Given the description of an element on the screen output the (x, y) to click on. 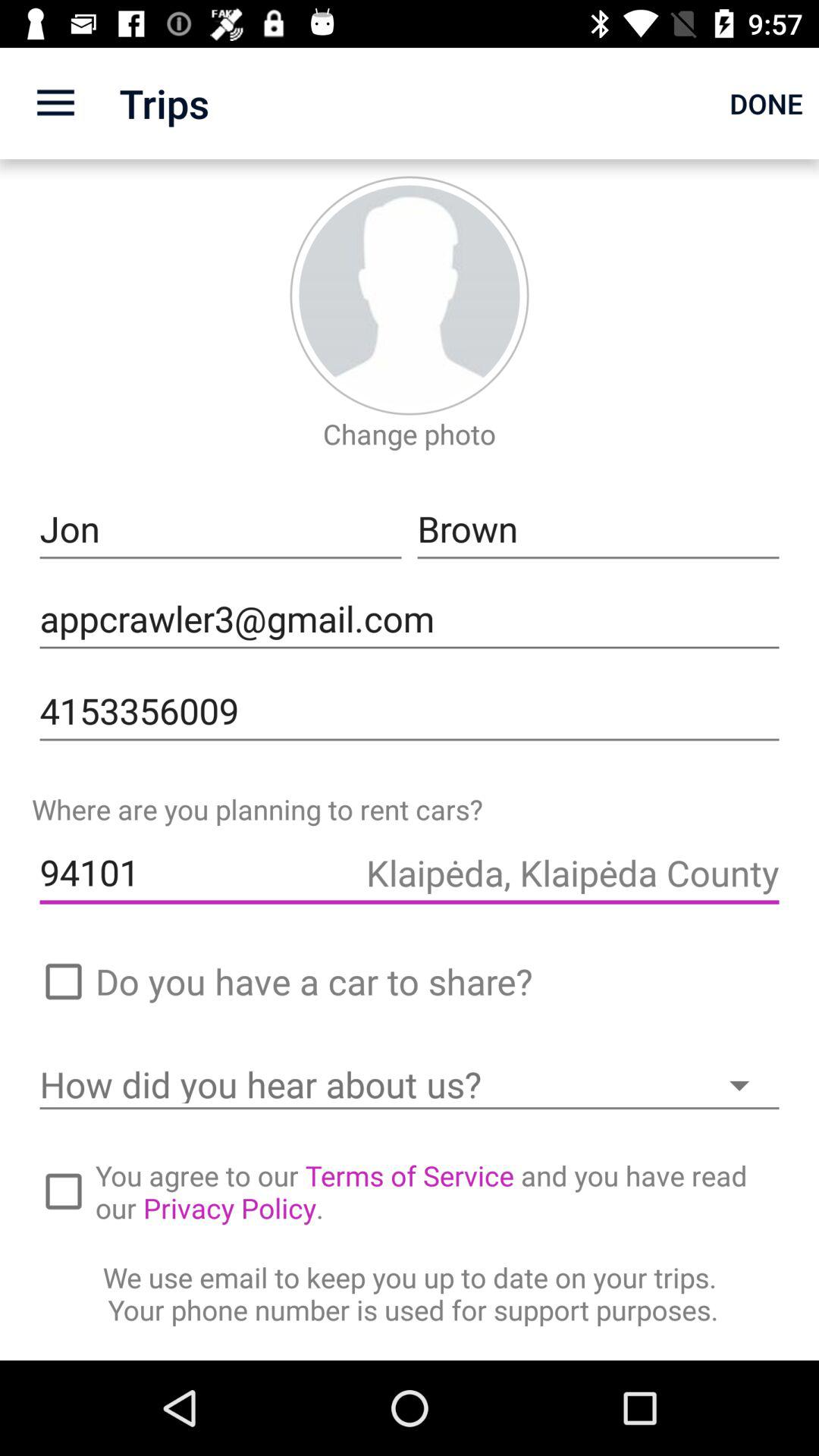
open brown on the right (598, 529)
